Given the description of an element on the screen output the (x, y) to click on. 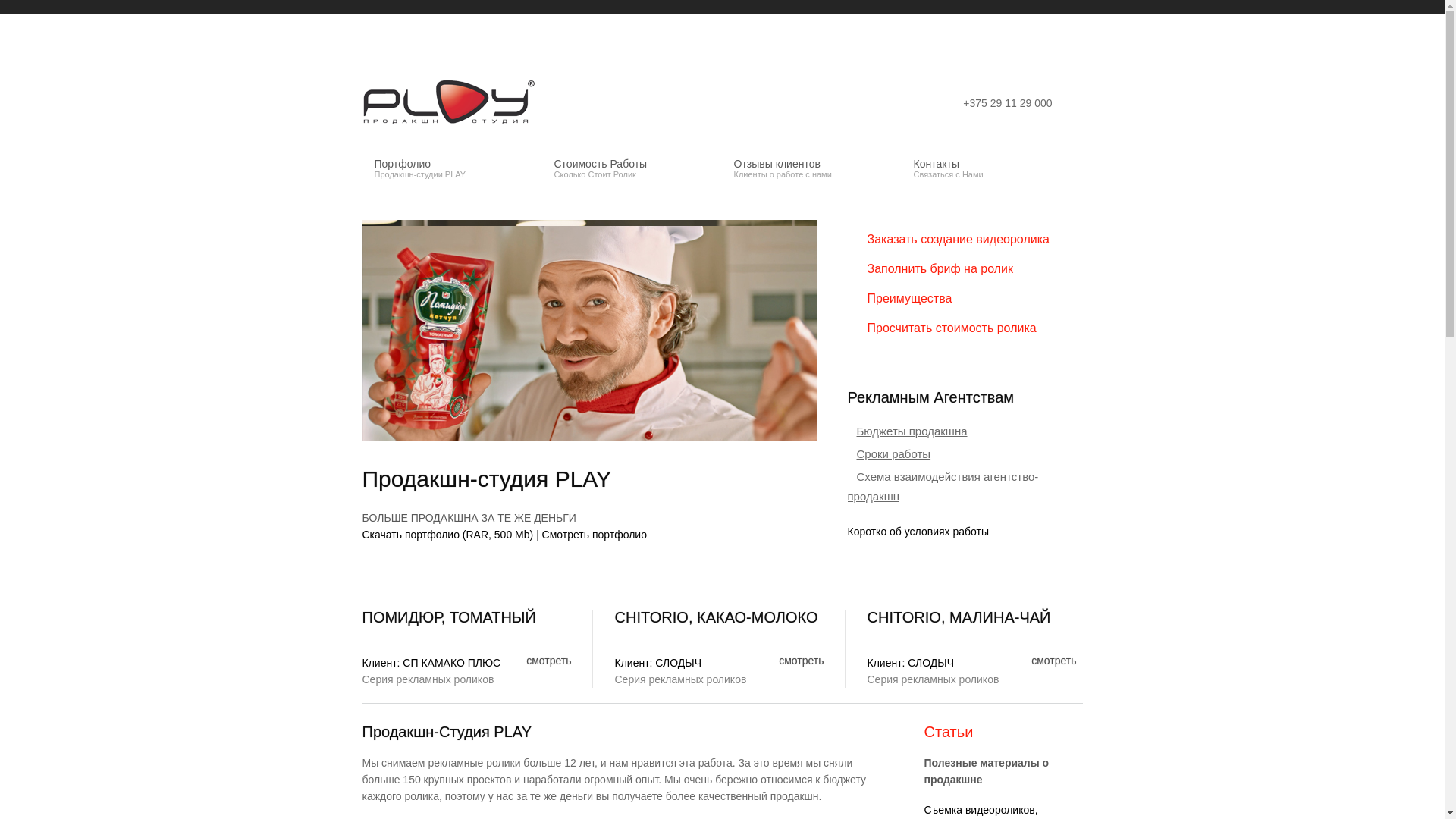
Play Element type: hover (450, 101)
